Given the description of an element on the screen output the (x, y) to click on. 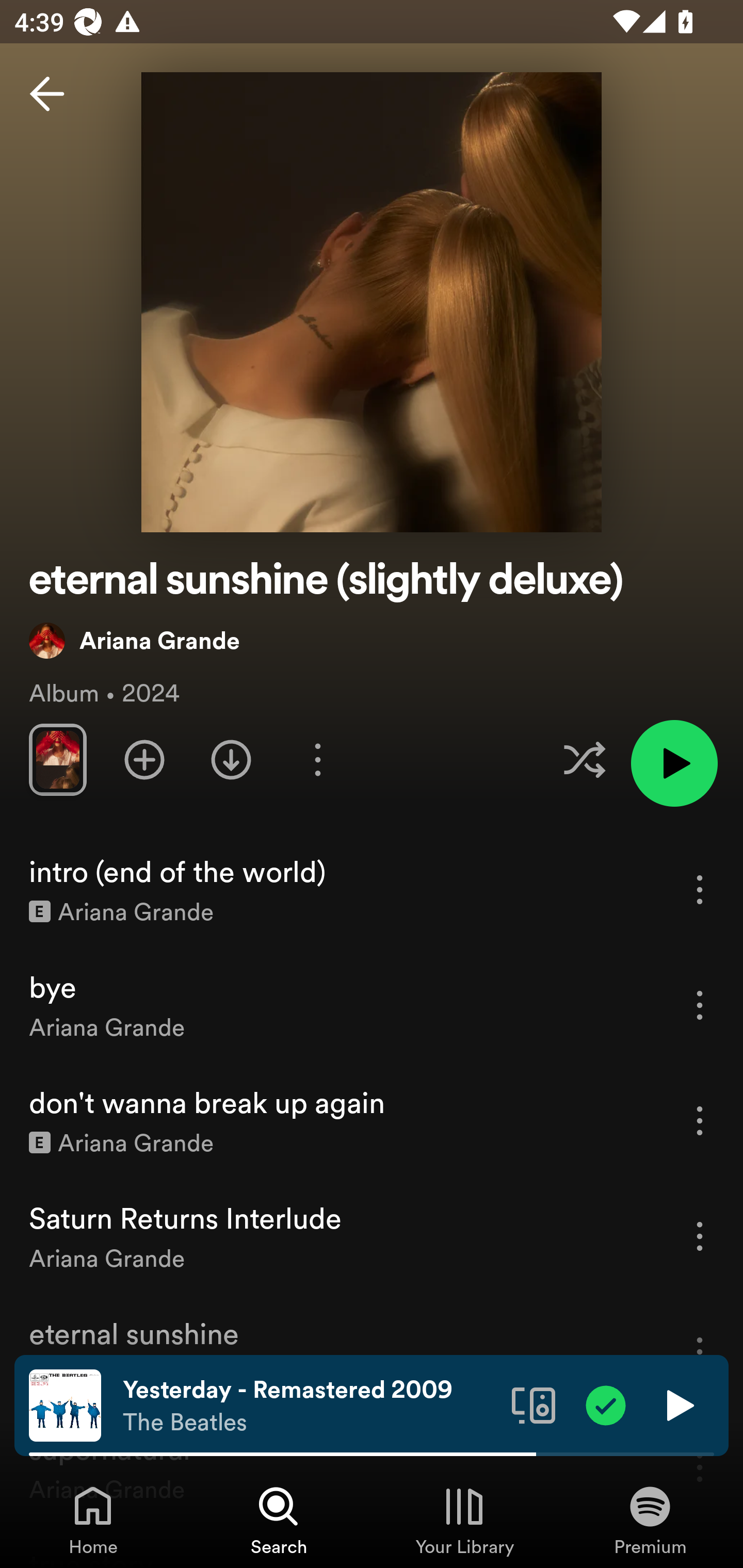
Back (46, 93)
Ariana Grande (133, 640)
Swipe through previews of tracks from this album. (57, 759)
Add playlist to Your Library (144, 759)
Download (230, 759)
Enable shuffle for this playlist (583, 759)
Play playlist (674, 763)
More options for song intro (end of the world) (699, 889)
bye Ariana Grande More options for song bye (371, 1005)
More options for song bye (699, 1004)
More options for song don't wanna break up again (699, 1120)
More options for song Saturn Returns Interlude (699, 1236)
Yesterday - Remastered 2009 The Beatles (309, 1405)
The cover art of the currently playing track (64, 1404)
Connect to a device. Opens the devices menu (533, 1404)
Item added (605, 1404)
Play (677, 1404)
Home, Tab 1 of 4 Home Home (92, 1519)
Search, Tab 2 of 4 Search Search (278, 1519)
Your Library, Tab 3 of 4 Your Library Your Library (464, 1519)
Premium, Tab 4 of 4 Premium Premium (650, 1519)
